Given the description of an element on the screen output the (x, y) to click on. 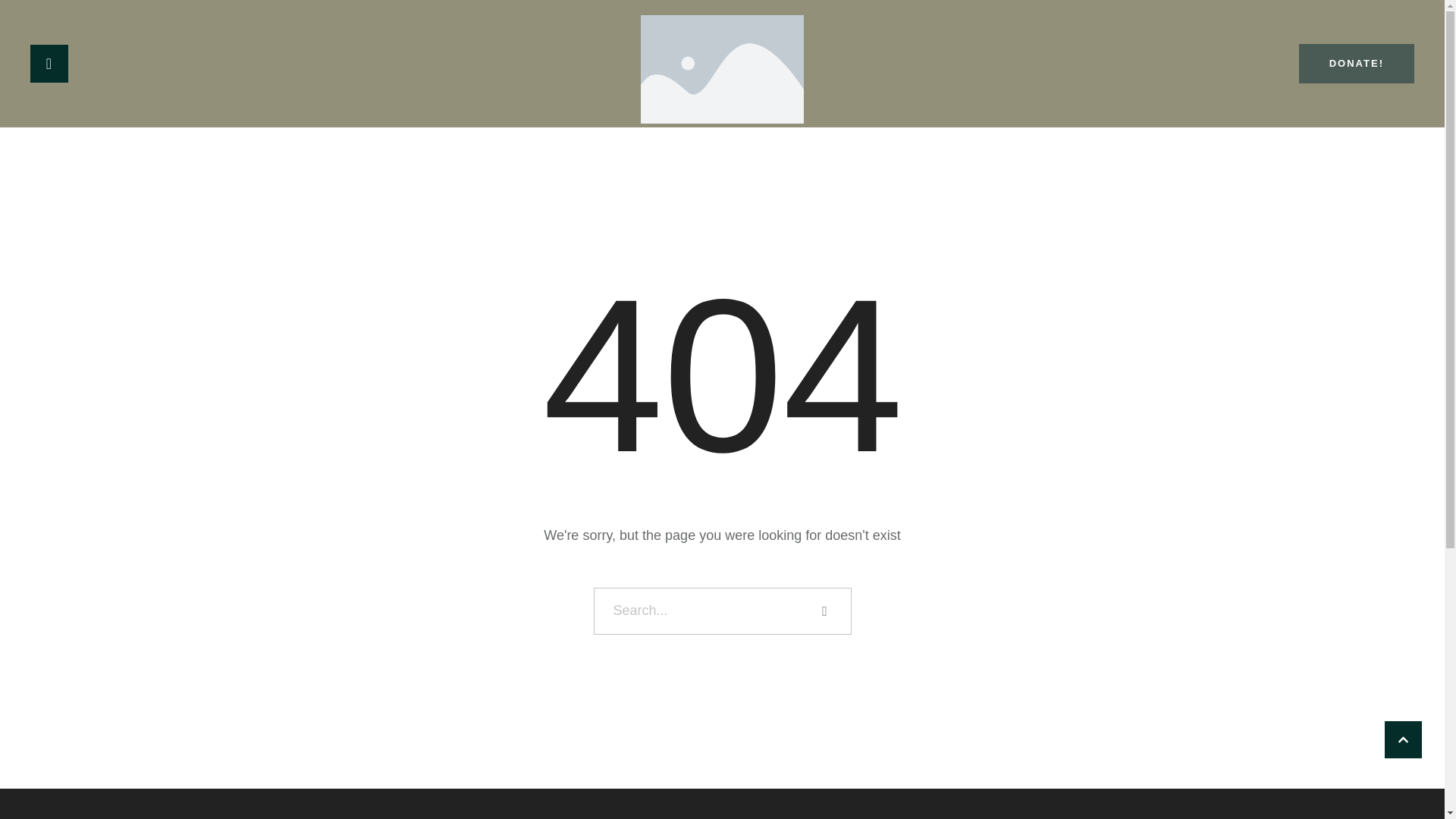
Polska Misja Katolicka Mainz (721, 69)
DONATE! (1355, 63)
CLICK HERE (1403, 739)
CLICK HERE (1403, 739)
CLICK HERE (1403, 739)
